Given the description of an element on the screen output the (x, y) to click on. 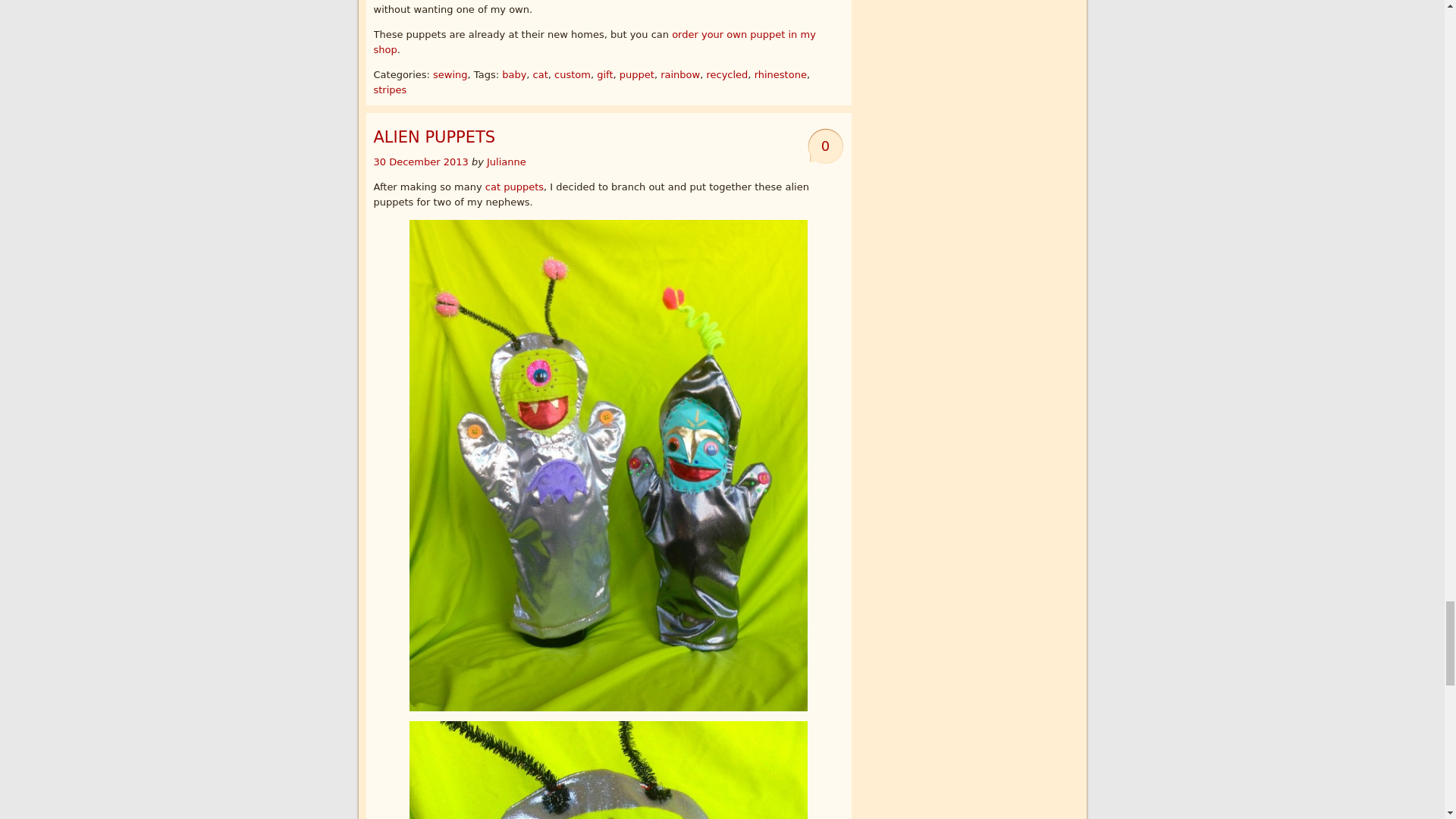
cat puppets (593, 41)
View all posts by Julianne (505, 161)
cat puppets (513, 186)
Permalink to ALIEN PUPPETS (433, 136)
Permanent Link to ALIEN PUPPETS (421, 161)
